Given the description of an element on the screen output the (x, y) to click on. 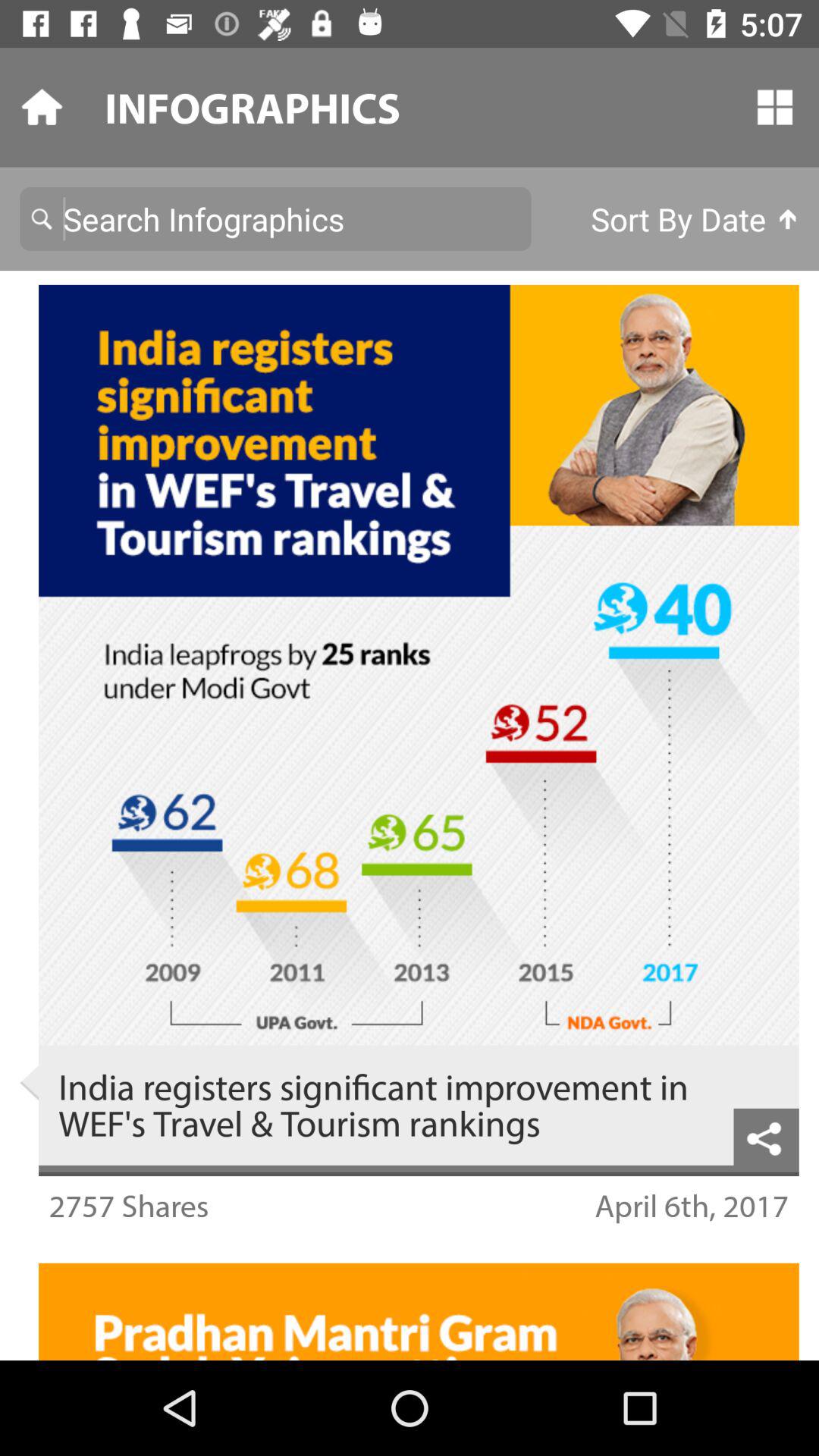
share the article (766, 1136)
